Given the description of an element on the screen output the (x, y) to click on. 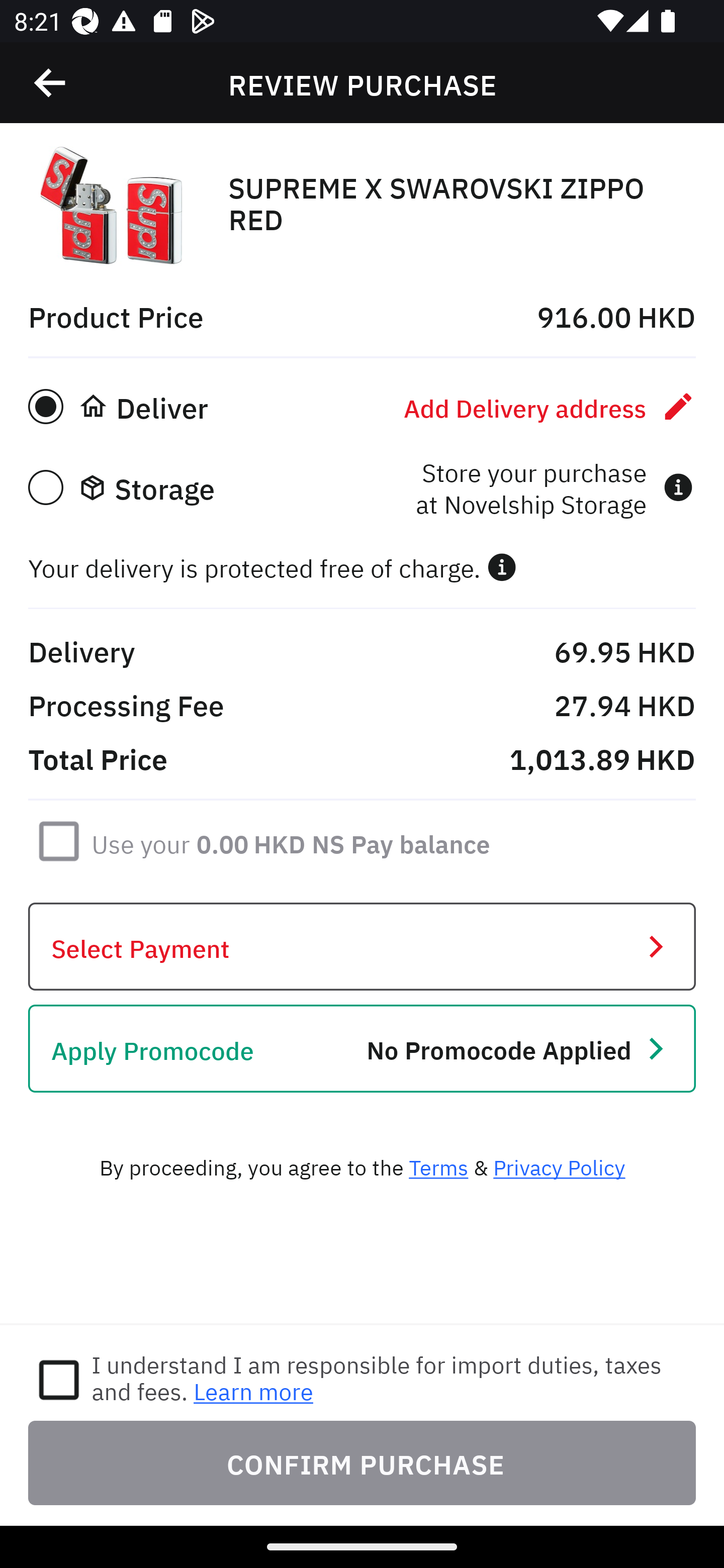
 (50, 83)
󰚡 Deliver Add Delivery address 󰏫 (361, 406)
Add Delivery address 󰏫 (549, 406)
Store your purchase
at Novelship Storage  (554, 487)
 (501, 567)
Use your 0.00 HKD NS Pay balance (290, 840)
Select Payment  (361, 946)
Apply Promocode No Promocode Applied  (361, 1048)
 CONFIRM PURCHASE (361, 1462)
